Given the description of an element on the screen output the (x, y) to click on. 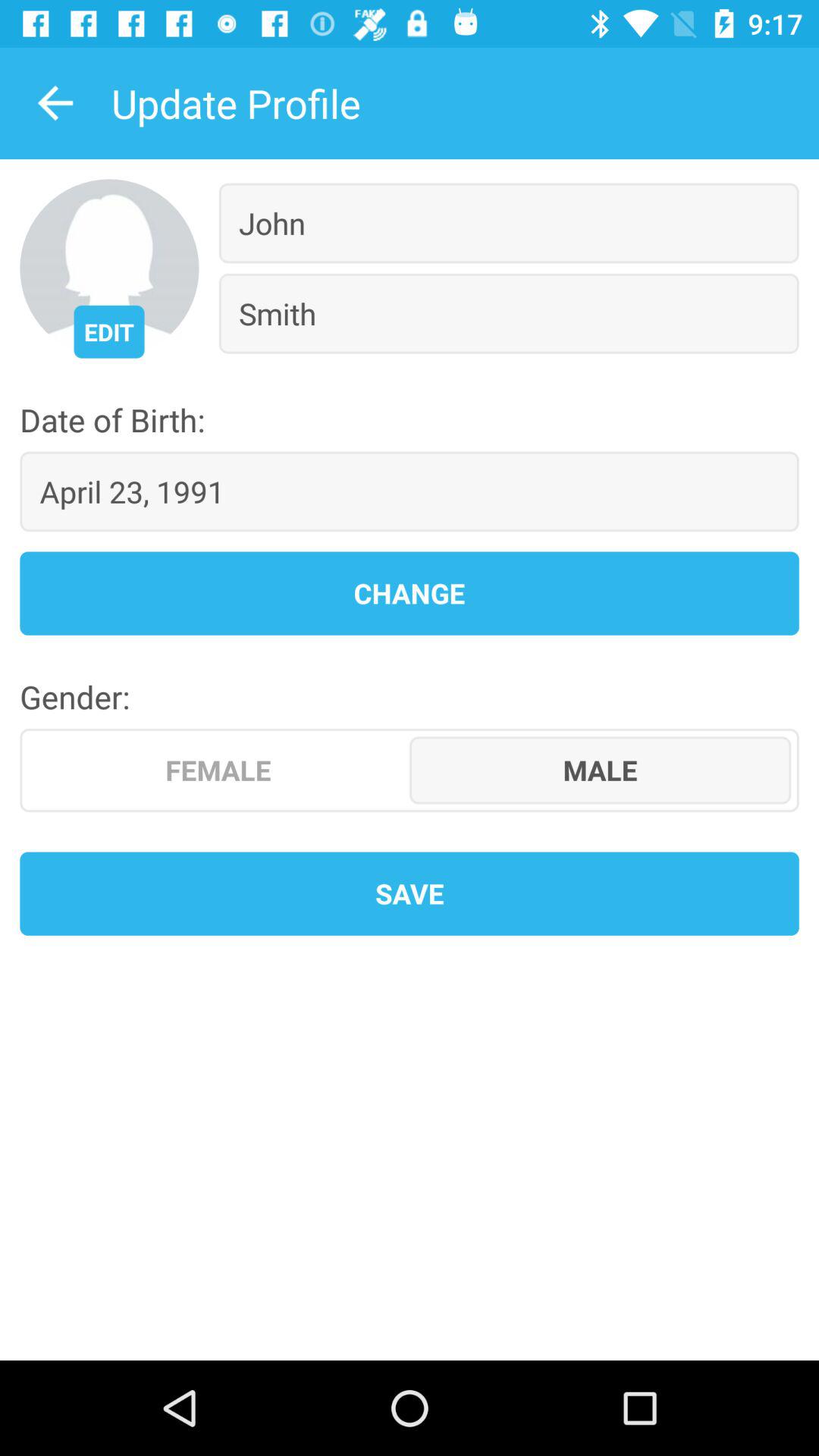
open icon on the left (218, 770)
